Given the description of an element on the screen output the (x, y) to click on. 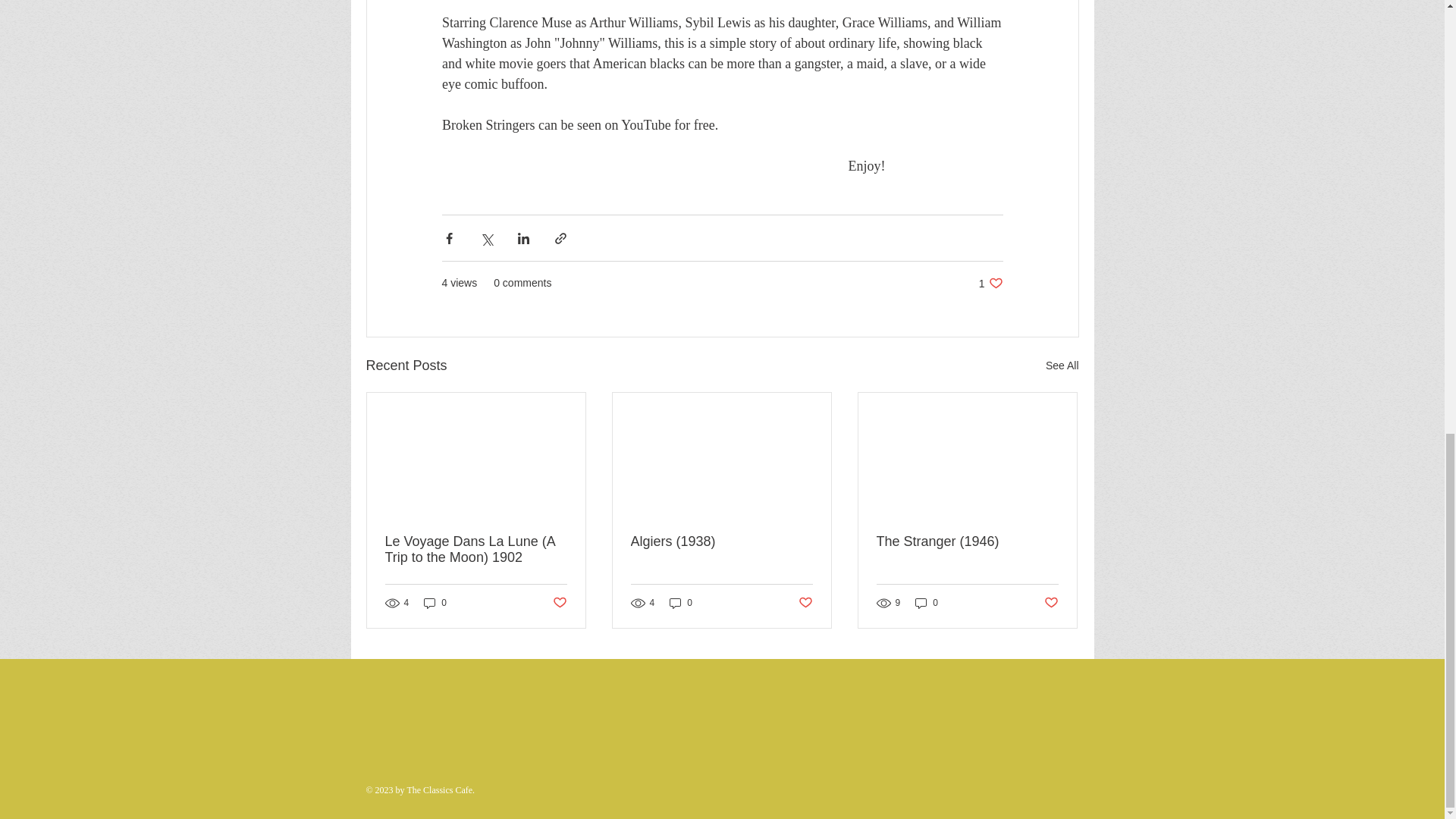
0 (681, 603)
Post not marked as liked (1050, 602)
See All (1061, 365)
0 (435, 603)
0 (990, 283)
Post not marked as liked (926, 603)
Post not marked as liked (804, 602)
